Given the description of an element on the screen output the (x, y) to click on. 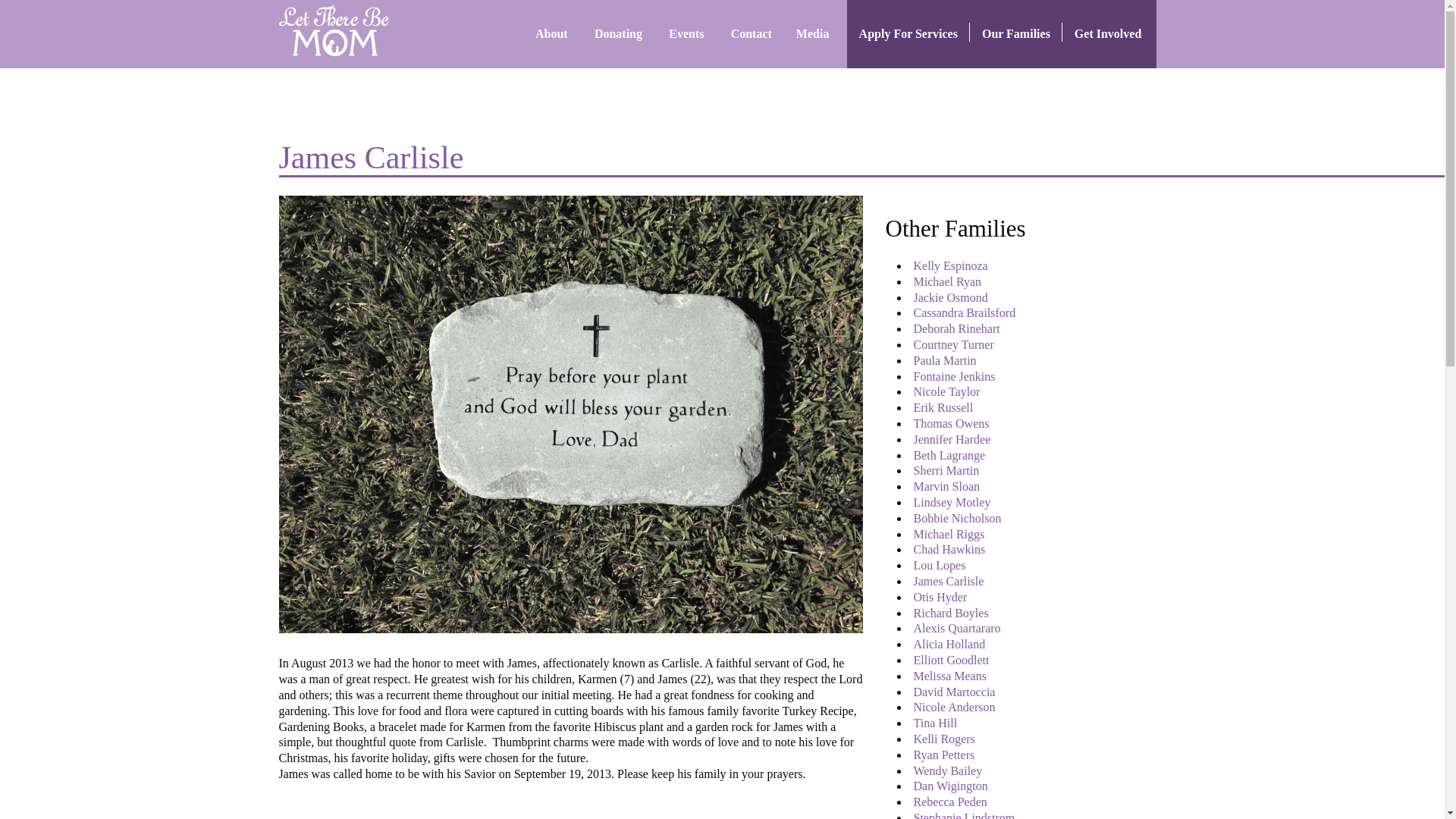
Apply For Services (908, 33)
Our Families (1015, 33)
Get Involved (1109, 33)
Events (686, 33)
Donating (619, 33)
Contact (751, 33)
